Given the description of an element on the screen output the (x, y) to click on. 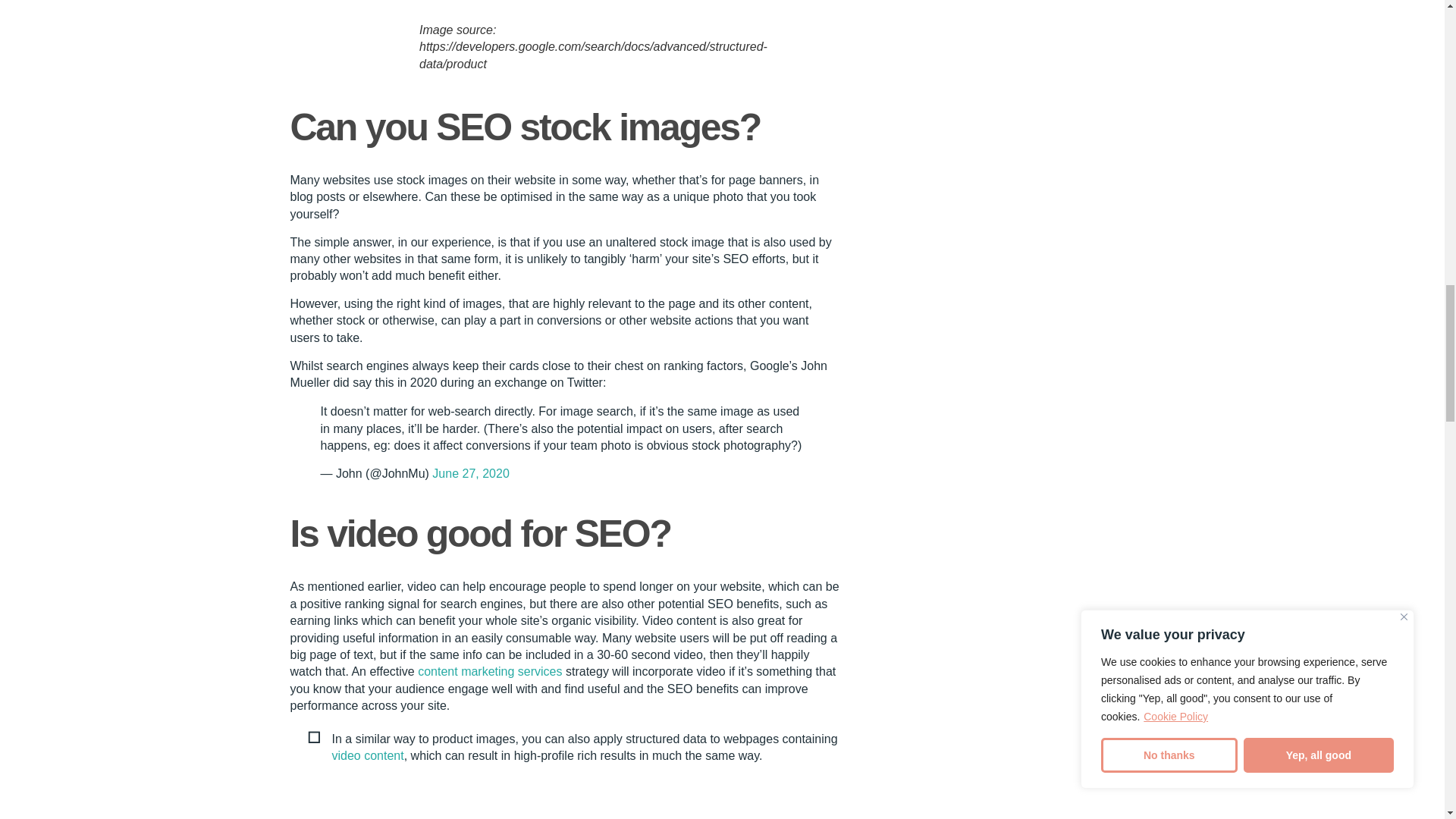
content marketing services (489, 671)
June 27, 2020 (470, 472)
video content (367, 755)
